Given the description of an element on the screen output the (x, y) to click on. 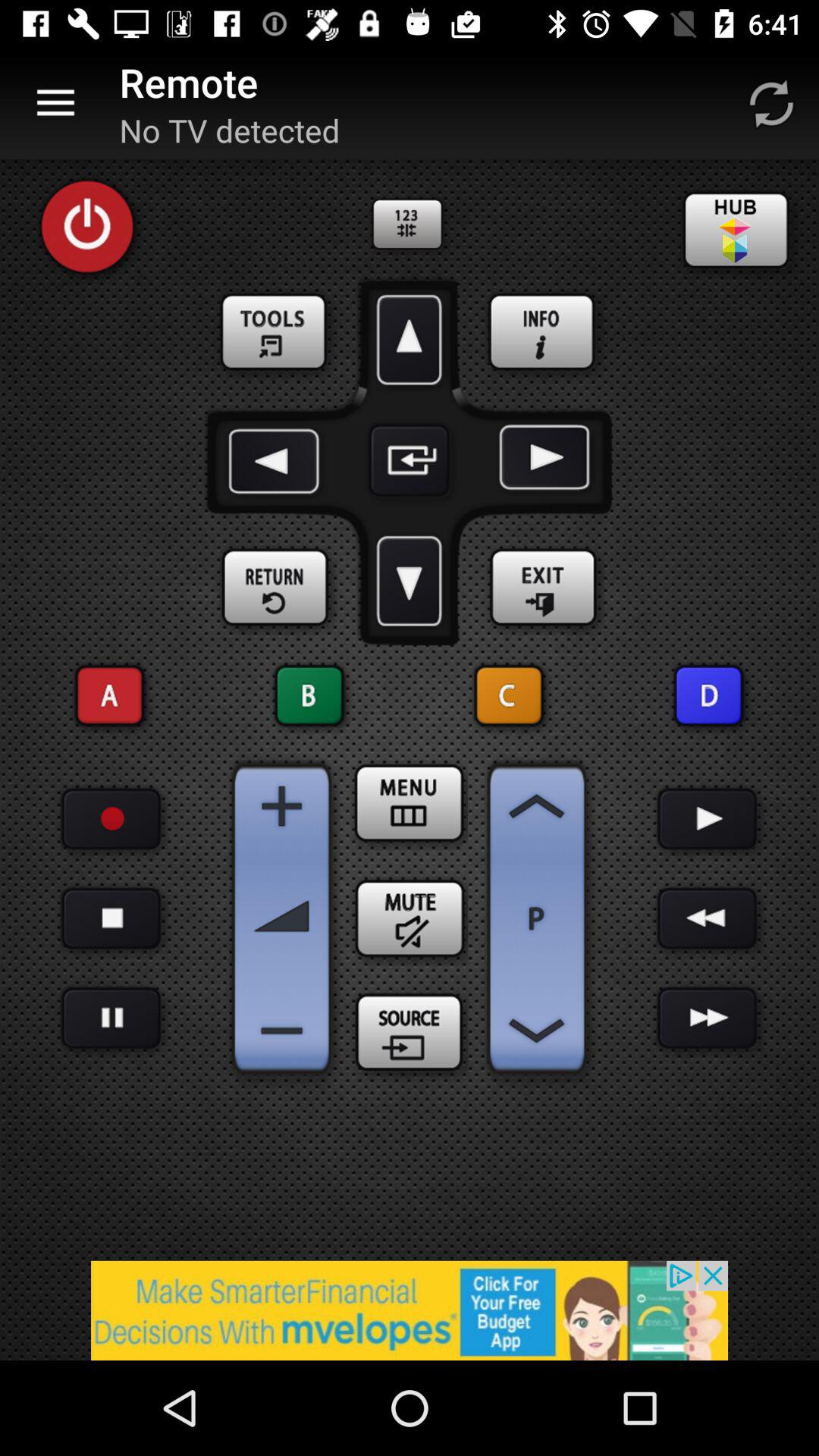
scroll to the right (541, 460)
